Given the description of an element on the screen output the (x, y) to click on. 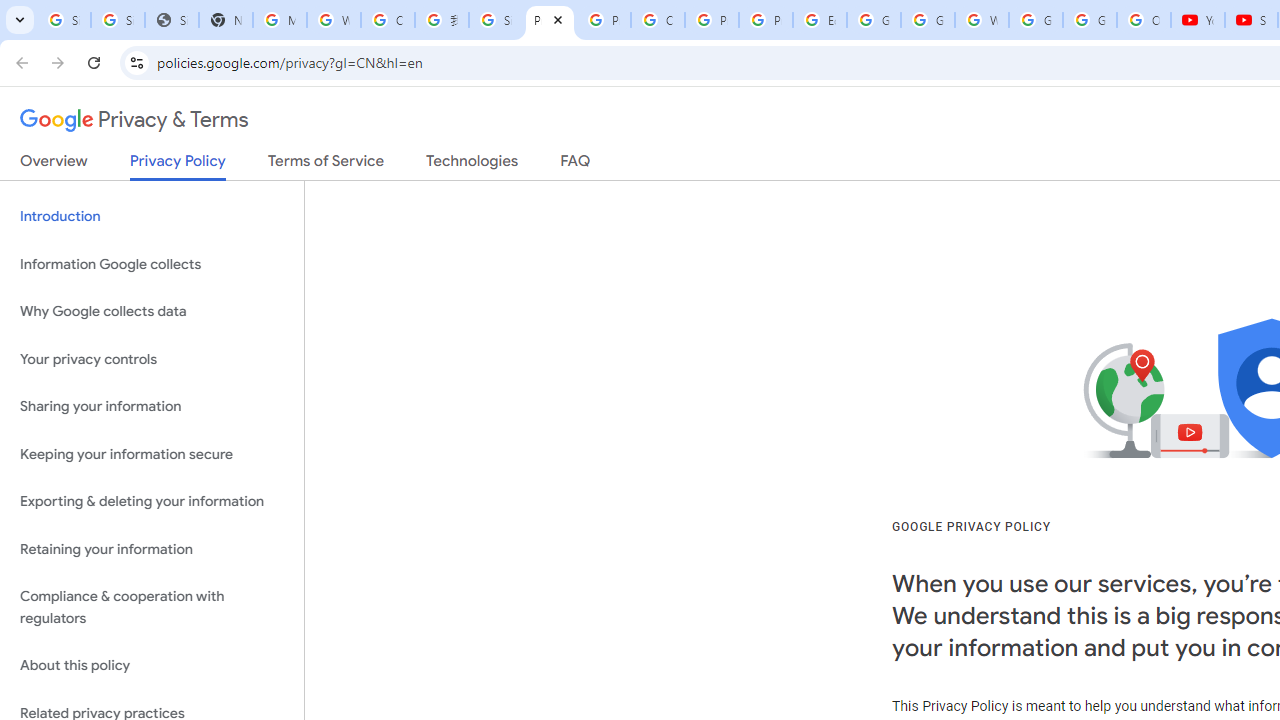
Sharing your information (152, 407)
Retaining your information (152, 548)
Information Google collects (152, 263)
YouTube (1197, 20)
Sign in - Google Accounts (495, 20)
Terms of Service (326, 165)
Sign In - USA TODAY (171, 20)
Who is my administrator? - Google Account Help (333, 20)
Welcome to My Activity (981, 20)
Create your Google Account (387, 20)
